Given the description of an element on the screen output the (x, y) to click on. 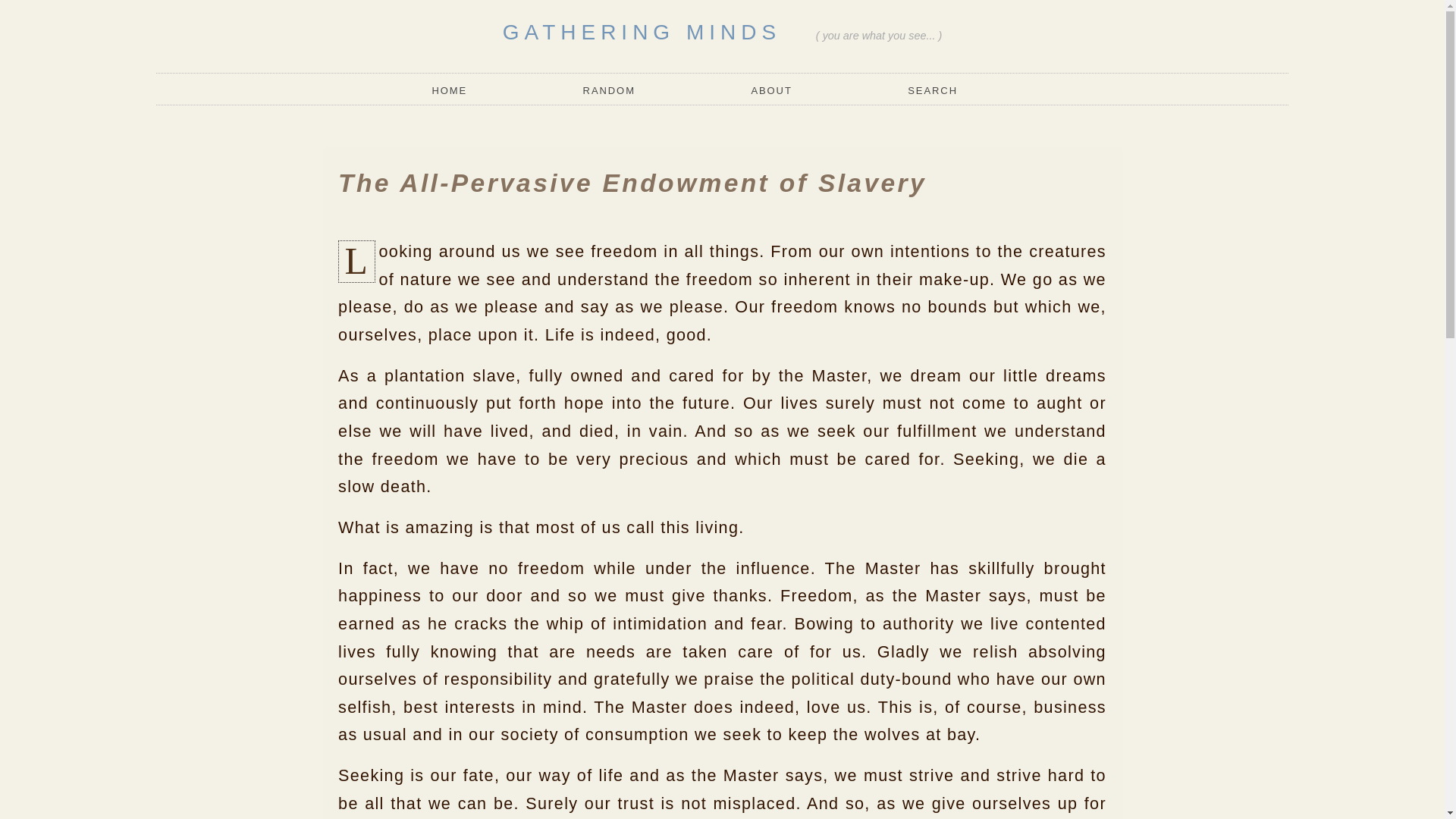
random (609, 91)
search (932, 91)
home (454, 91)
GATHERING MINDS (641, 32)
about (771, 91)
